Given the description of an element on the screen output the (x, y) to click on. 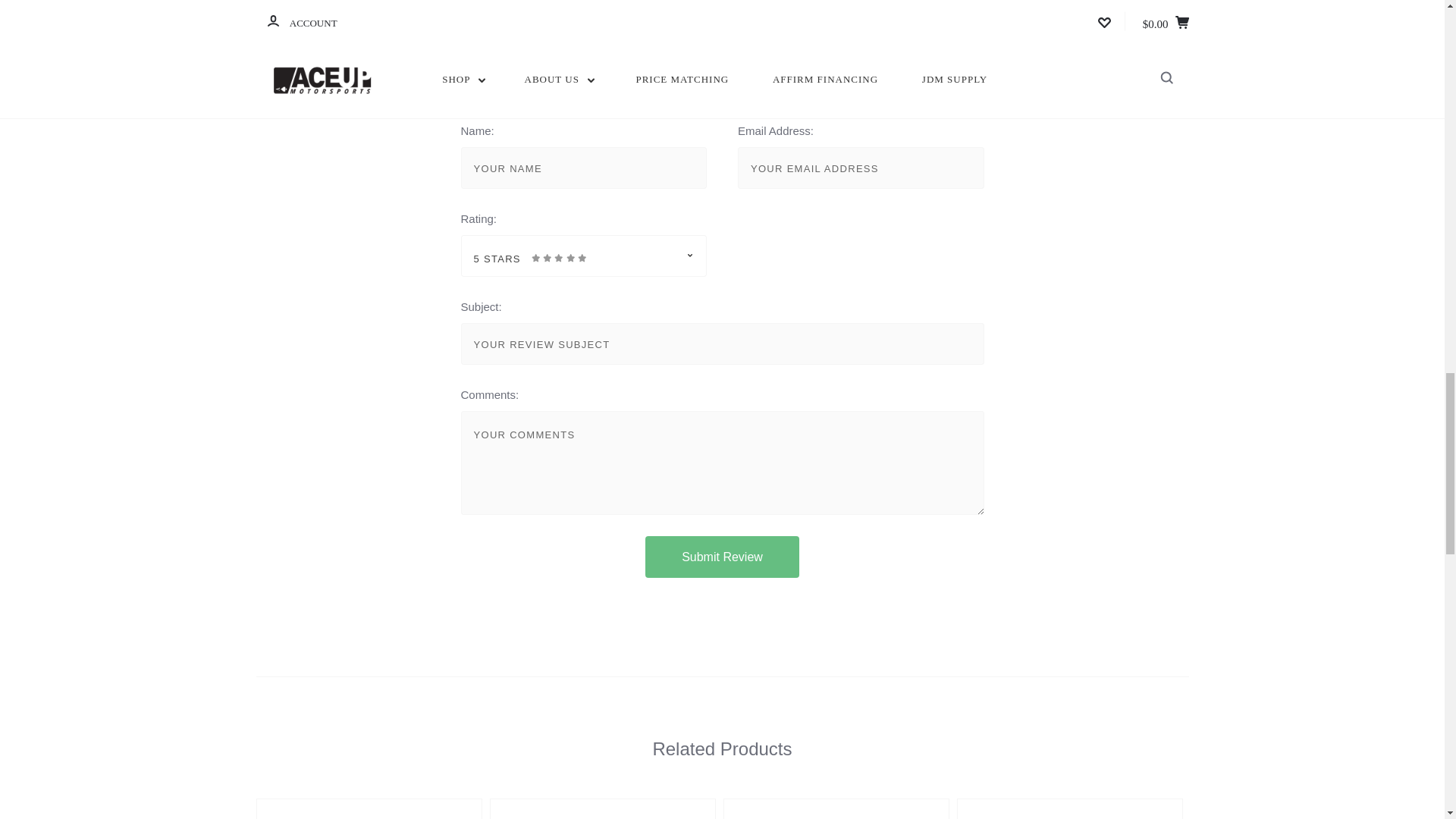
Submit Review (722, 557)
